Given the description of an element on the screen output the (x, y) to click on. 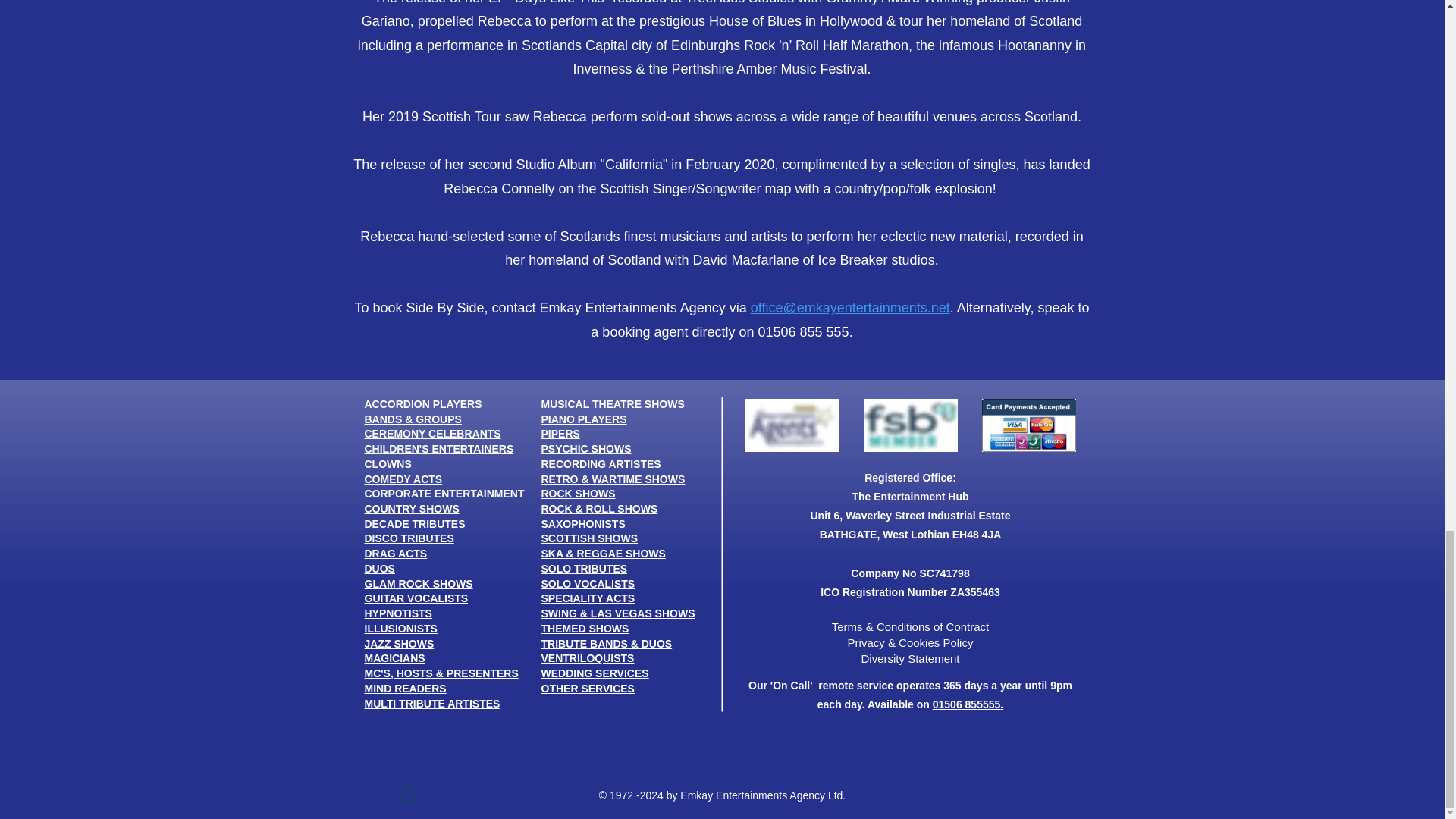
We are Members of The Federation of Small Business (909, 425)
We are Members of The Entertainments Agents' Association (791, 425)
